Given the description of an element on the screen output the (x, y) to click on. 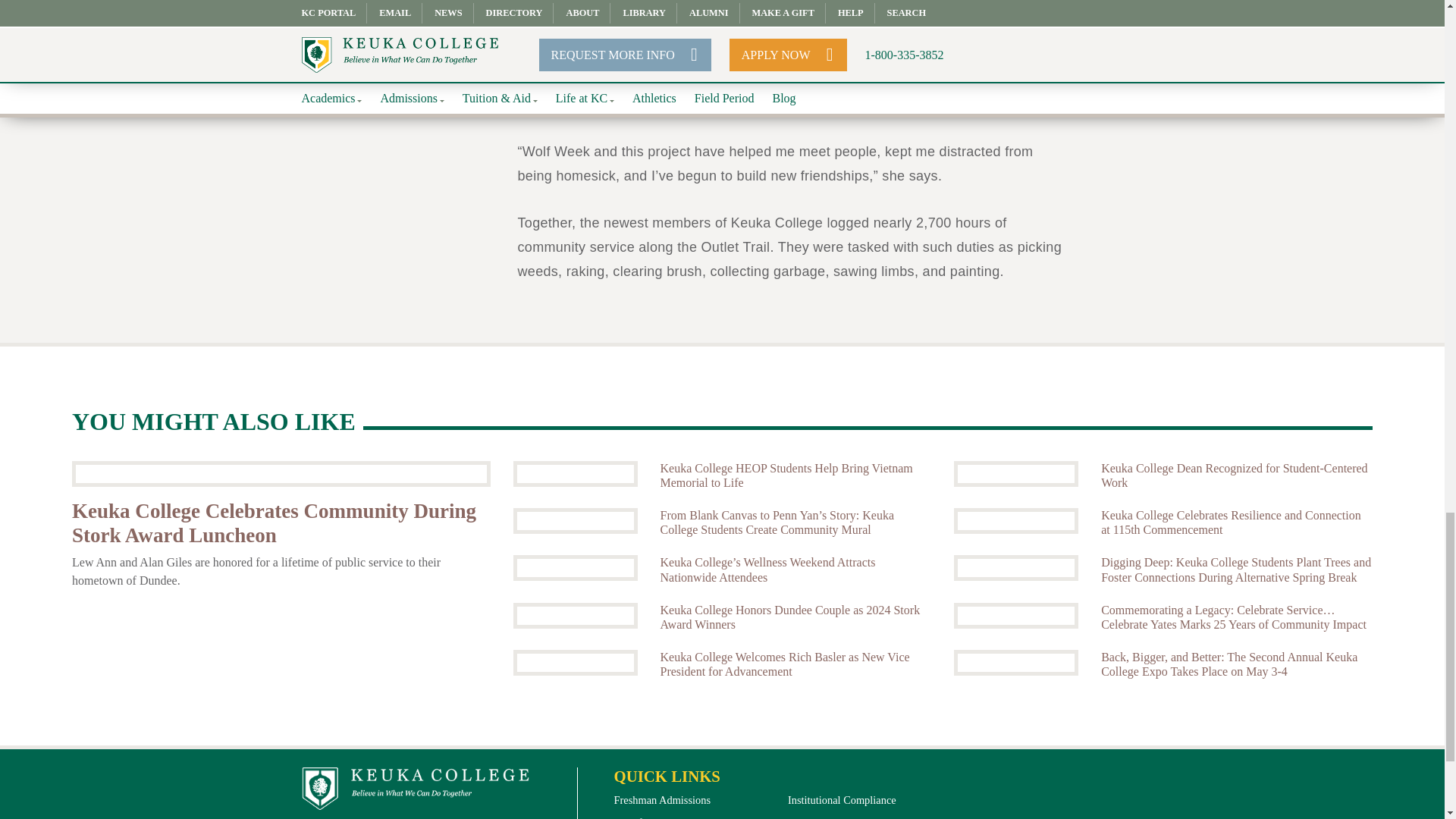
Keuka College Dean Recognized for Student-Centered Work (1015, 473)
